Given the description of an element on the screen output the (x, y) to click on. 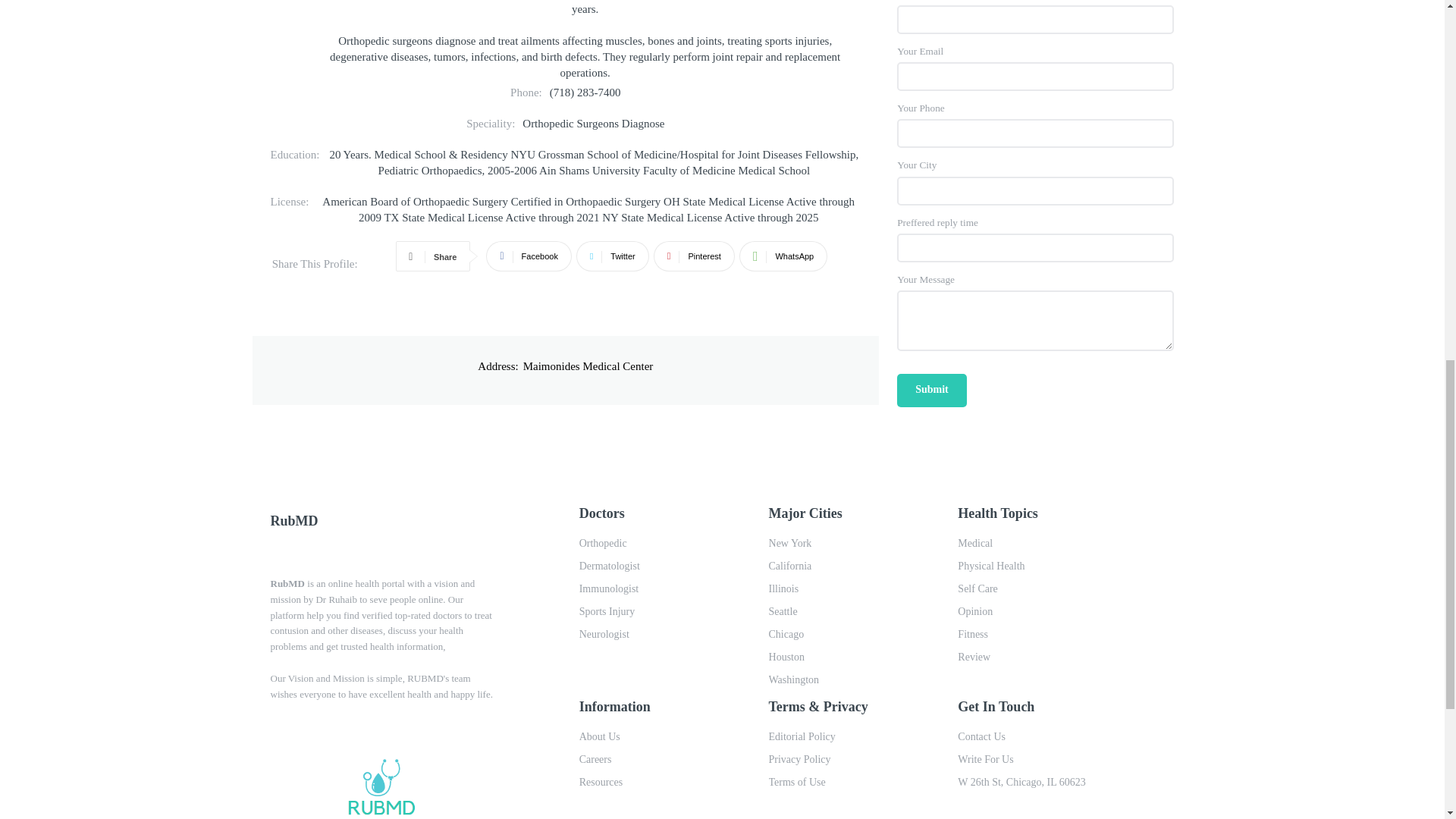
Facebook (528, 255)
Pinterest (694, 255)
WhatsApp (783, 255)
Twitter (612, 255)
